Given the description of an element on the screen output the (x, y) to click on. 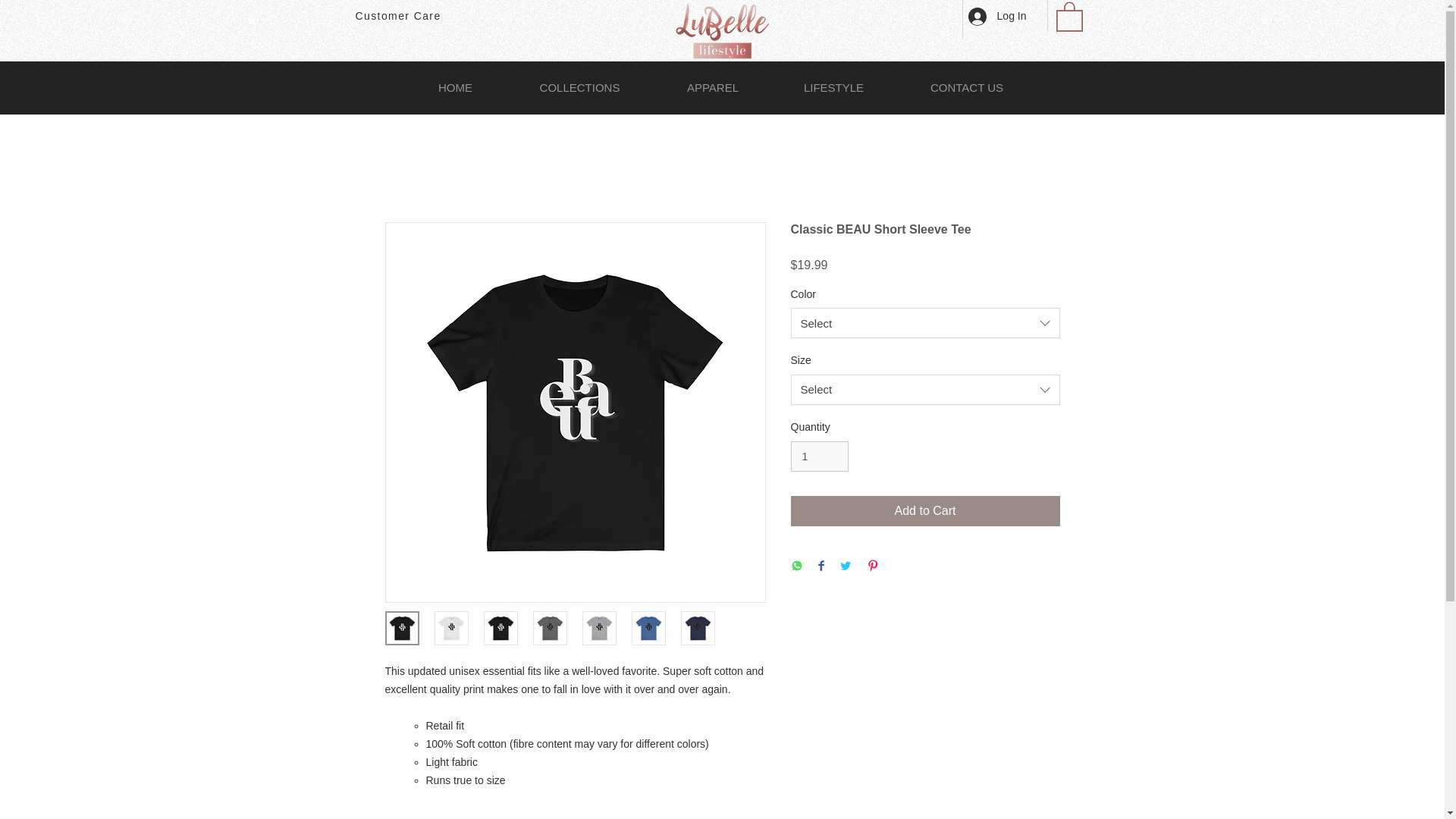
1 (818, 456)
Select (924, 322)
Log In (997, 16)
HOME (454, 87)
Add to Cart (924, 511)
Customer Care (398, 15)
Select (924, 389)
CONTACT US (967, 87)
